Given the description of an element on the screen output the (x, y) to click on. 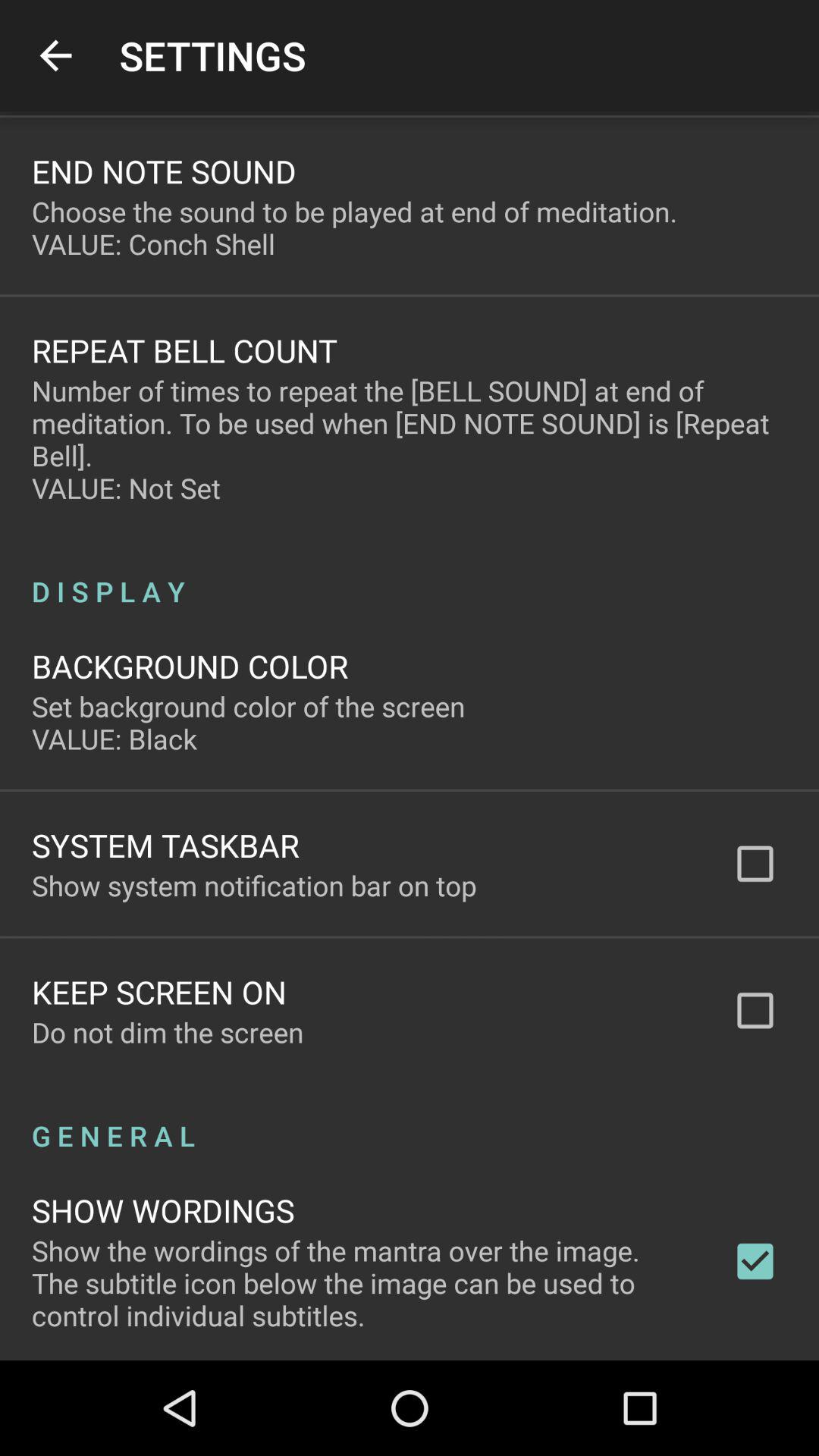
press the icon above the g e n icon (167, 1032)
